Given the description of an element on the screen output the (x, y) to click on. 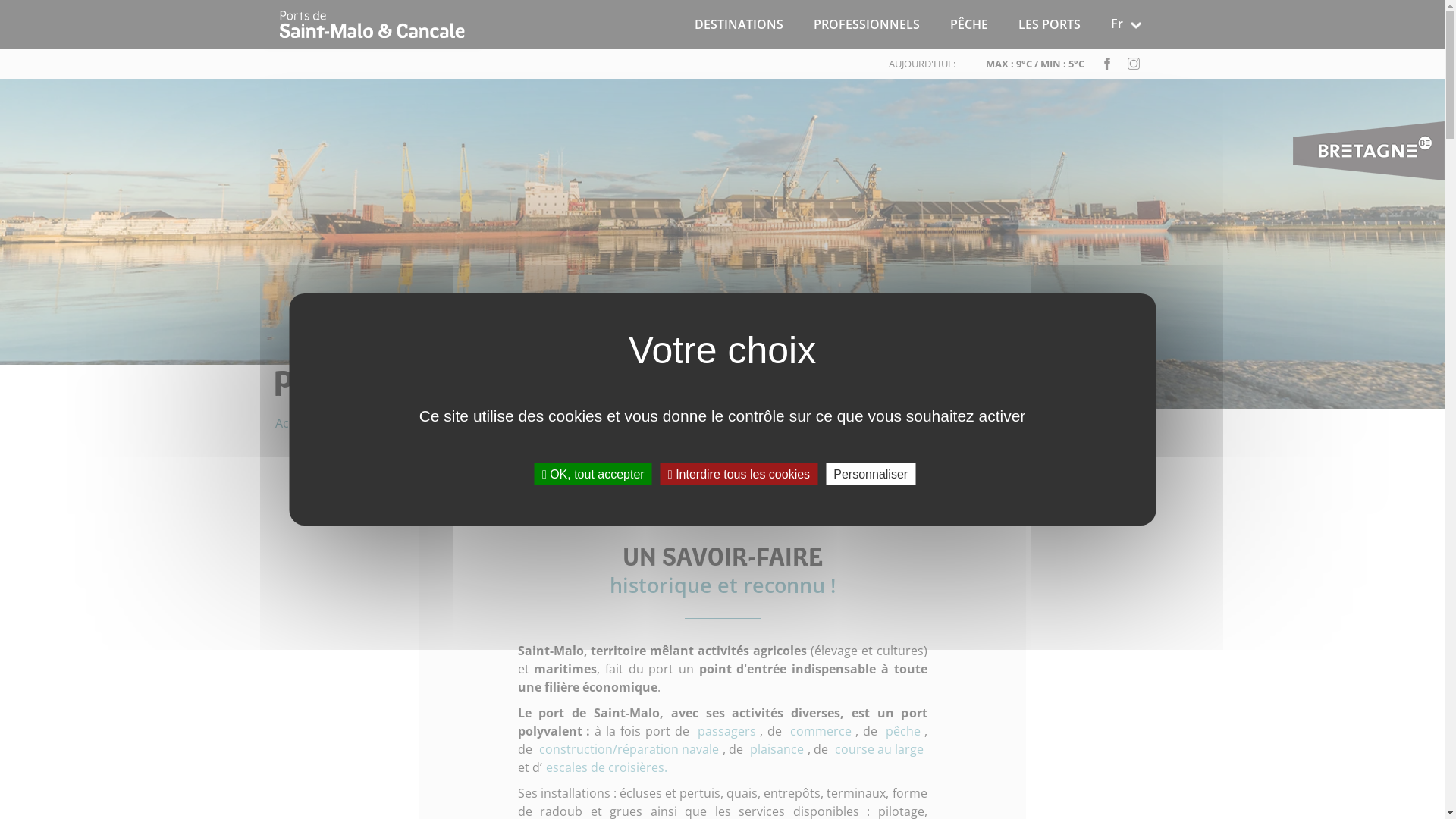
plaisance Element type: text (776, 748)
DESTINATIONS Element type: text (738, 24)
OK, tout accepter Element type: text (593, 474)
Interdire tous les cookies Element type: text (738, 474)
Personnaliser Element type: text (870, 474)
Les Ports Element type: text (357, 419)
course au large Element type: text (879, 748)
LES PORTS Element type: text (1049, 24)
Accueil Element type: text (294, 419)
facebook Element type: text (1106, 63)
passagers Element type: text (726, 730)
PROFESSIONNELS Element type: text (866, 24)
instagram Element type: text (1133, 63)
Accueil Element type: text (372, 23)
commerce Element type: text (820, 730)
